Given the description of an element on the screen output the (x, y) to click on. 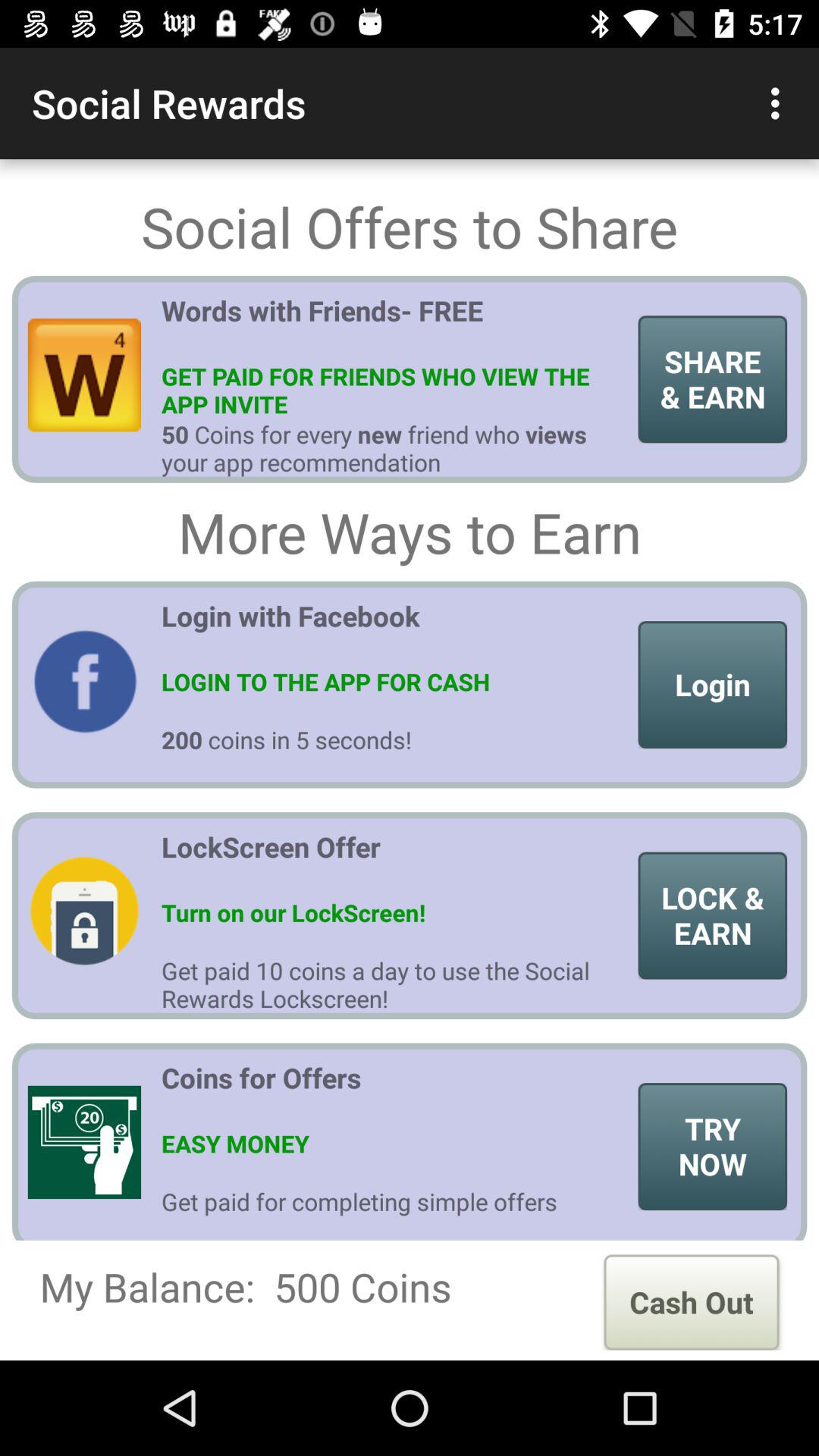
jump to try now (712, 1146)
